Given the description of an element on the screen output the (x, y) to click on. 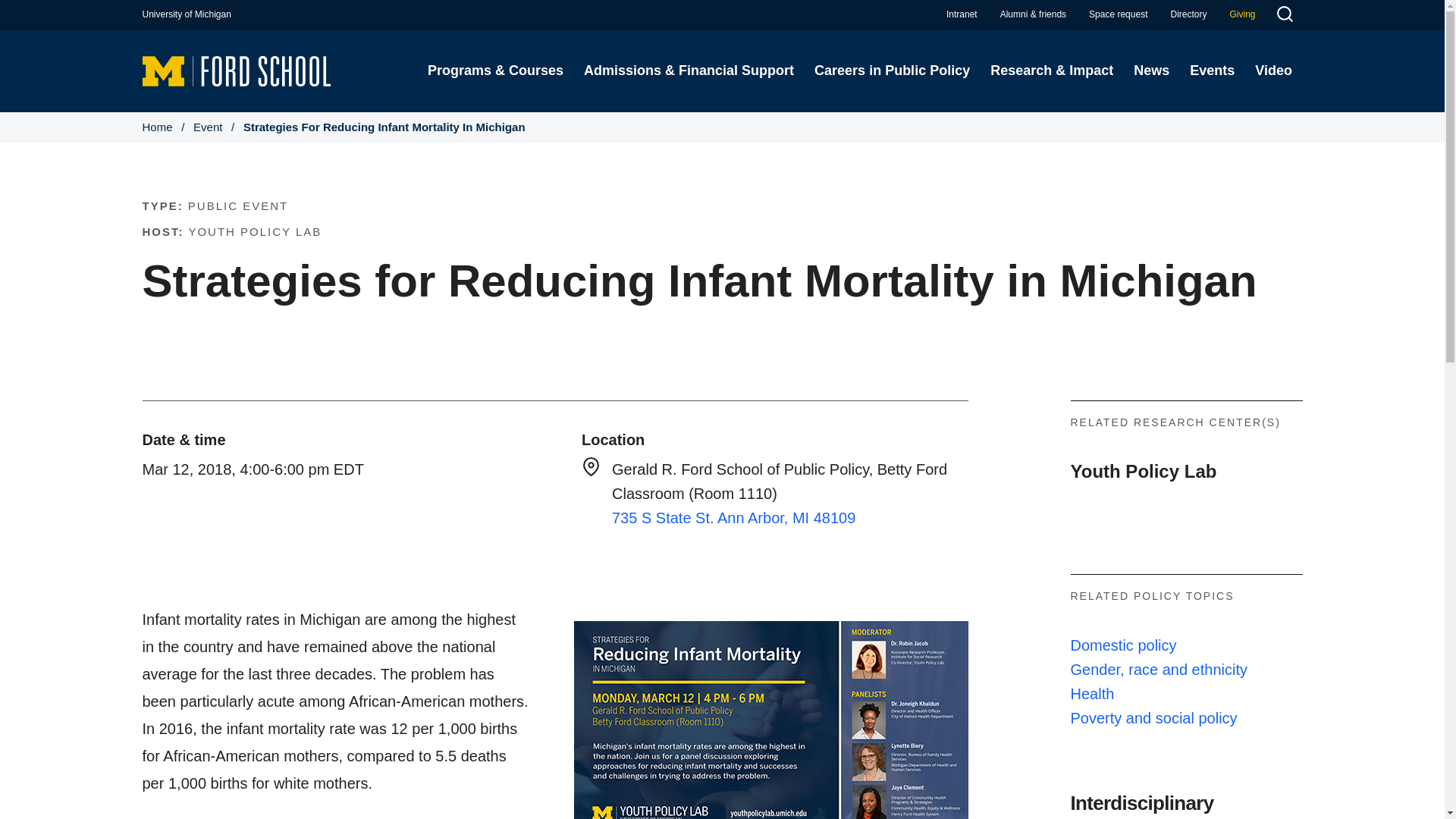
Giving (1241, 14)
Home (236, 69)
Space request (1118, 14)
Directory (1188, 14)
A connected community to each other, and to the world (1032, 14)
Ford School faculty, staff, and student contacts (1188, 14)
Search Toggle (1283, 15)
Give to the Ford School (1241, 14)
University of Michigan (186, 14)
